Given the description of an element on the screen output the (x, y) to click on. 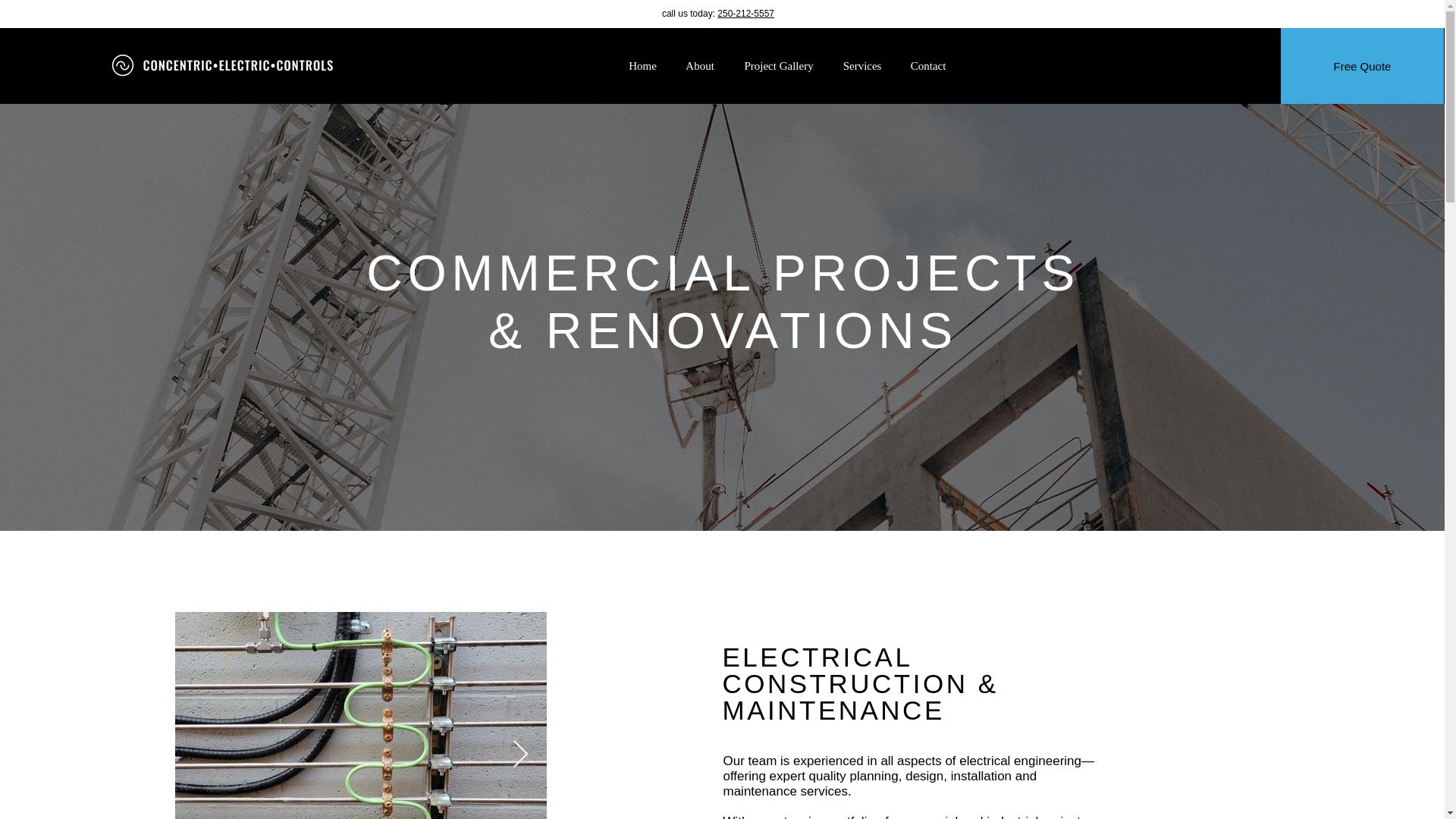
Contact (927, 66)
Free Quote (1362, 65)
Project Gallery (779, 66)
About (700, 66)
250-212-5557 (745, 13)
Home (642, 66)
